Given the description of an element on the screen output the (x, y) to click on. 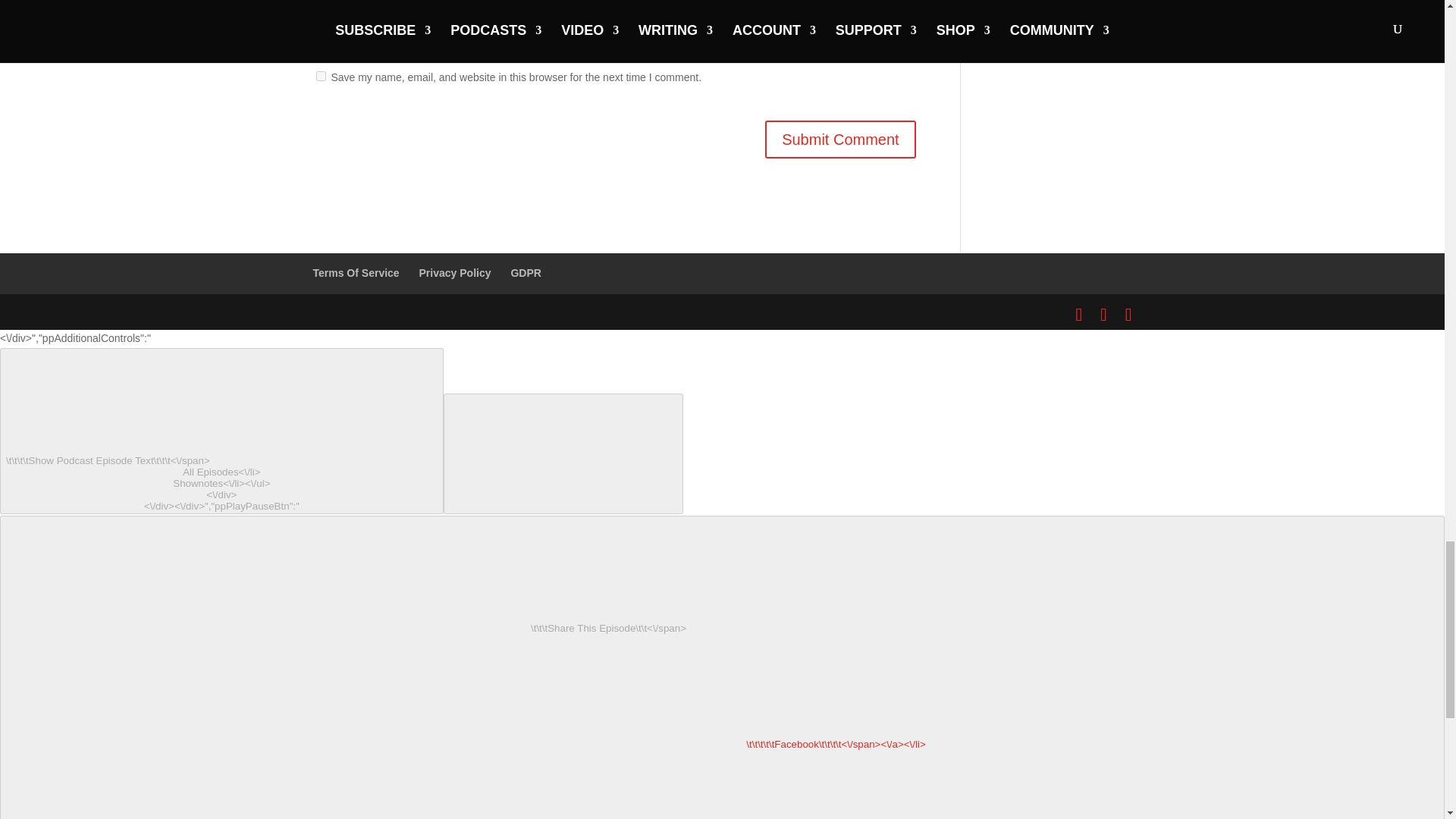
Submit Comment (840, 139)
yes (319, 76)
